Given the description of an element on the screen output the (x, y) to click on. 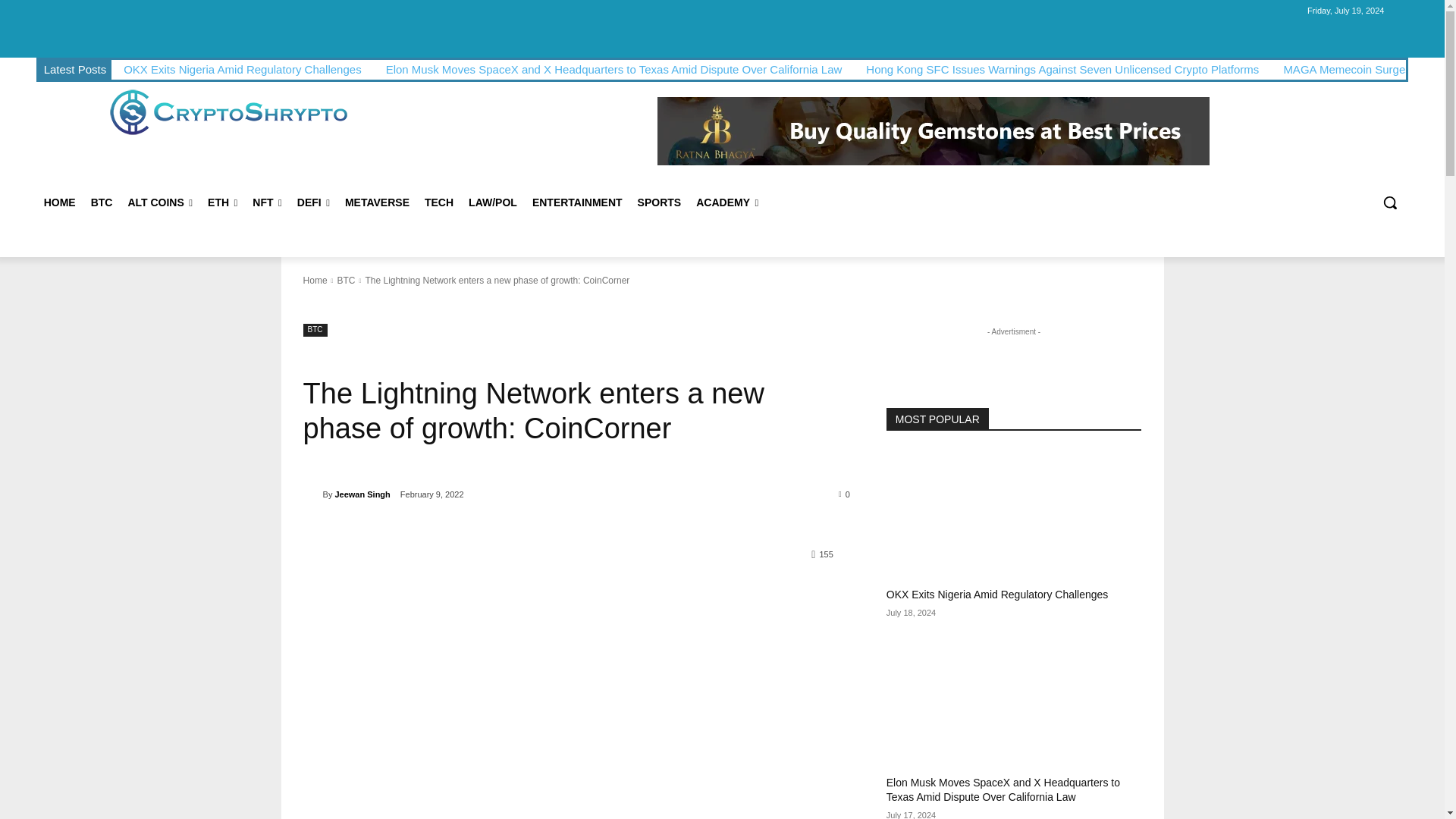
BTC (101, 202)
OKX Exits Nigeria Amid Regulatory Challenges (242, 69)
ALT COINS (159, 202)
HOME (59, 202)
